Given the description of an element on the screen output the (x, y) to click on. 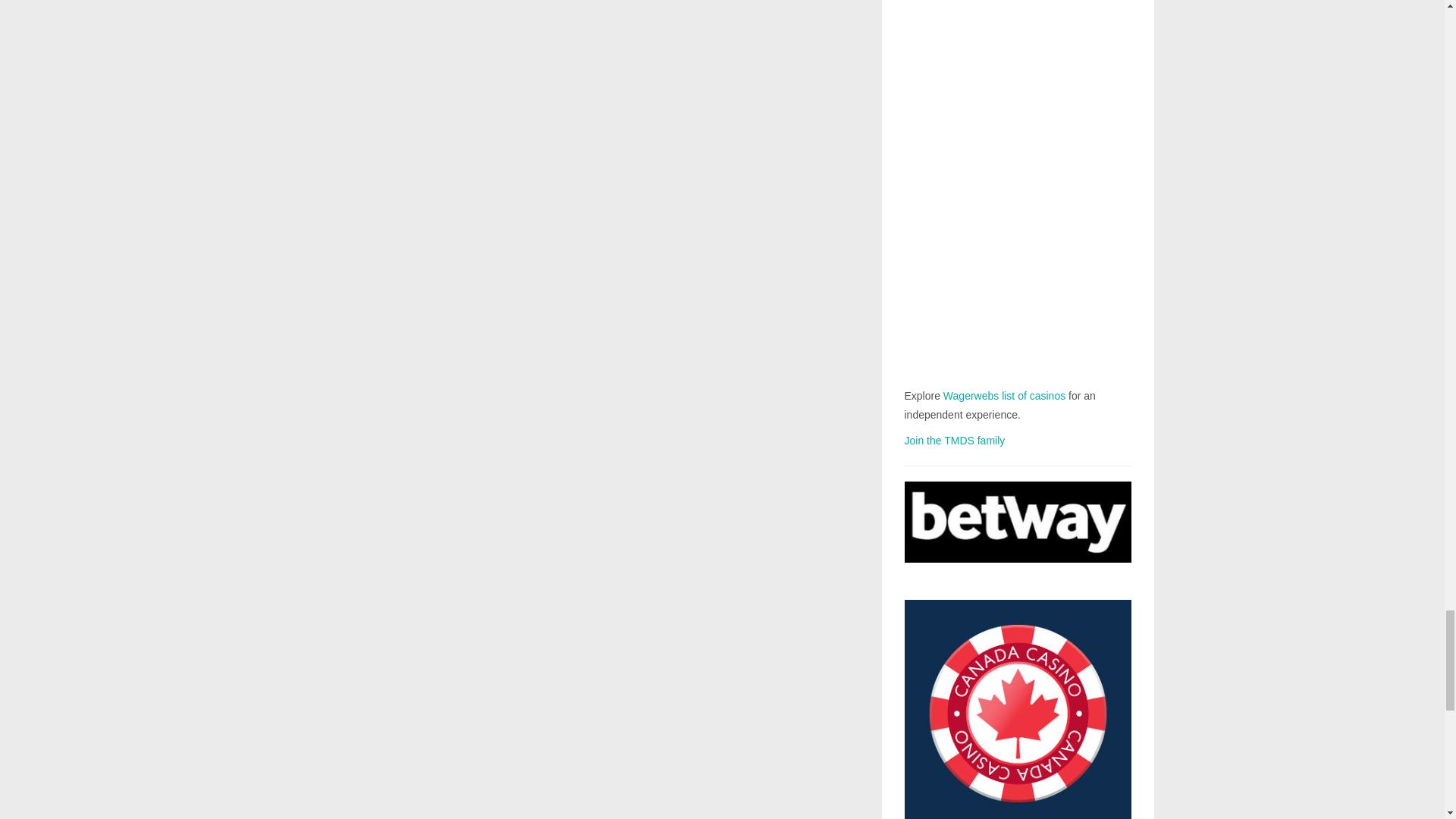
canada casino (1017, 709)
